Given the description of an element on the screen output the (x, y) to click on. 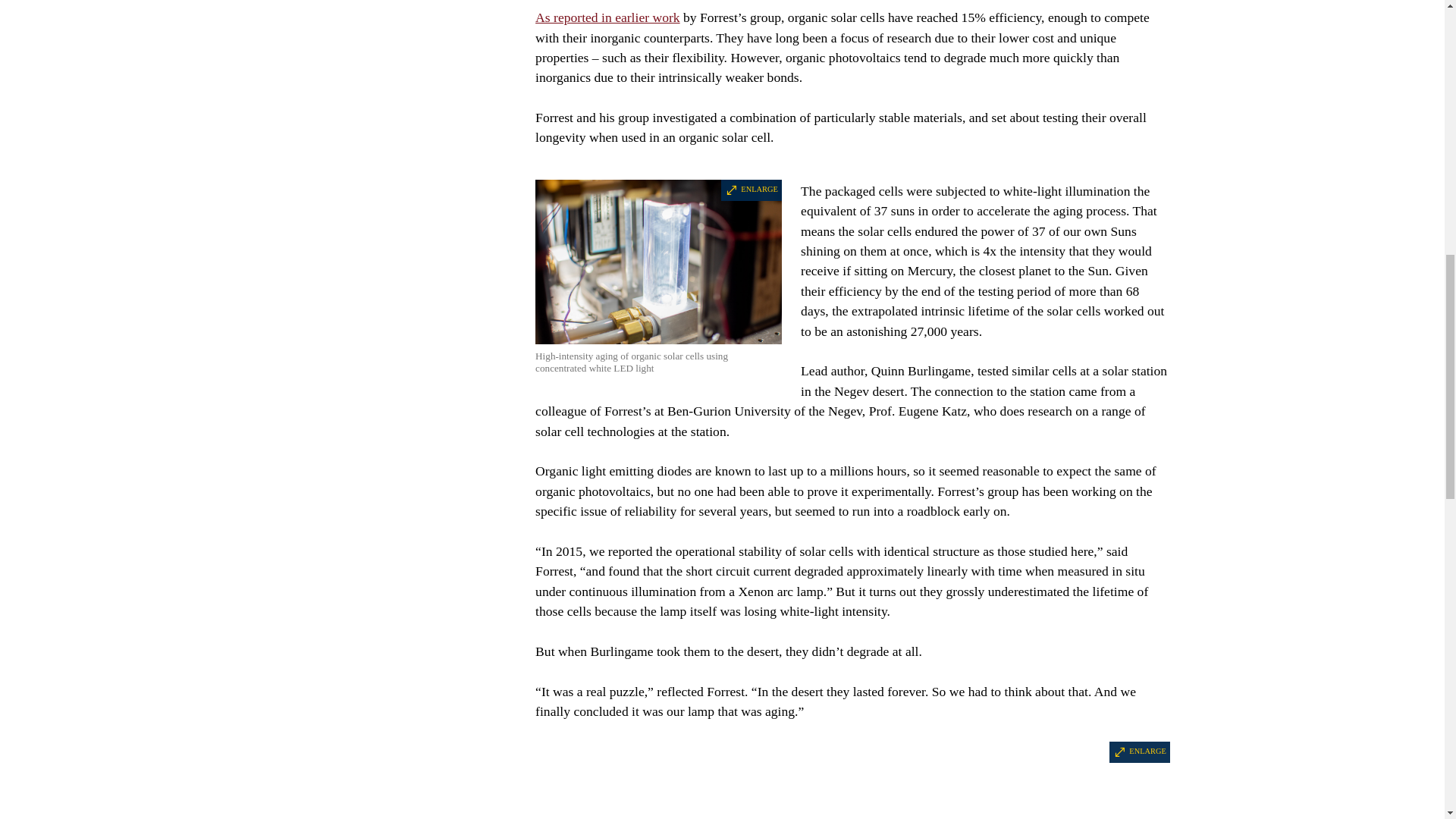
As reported in earlier work (607, 17)
